Given the description of an element on the screen output the (x, y) to click on. 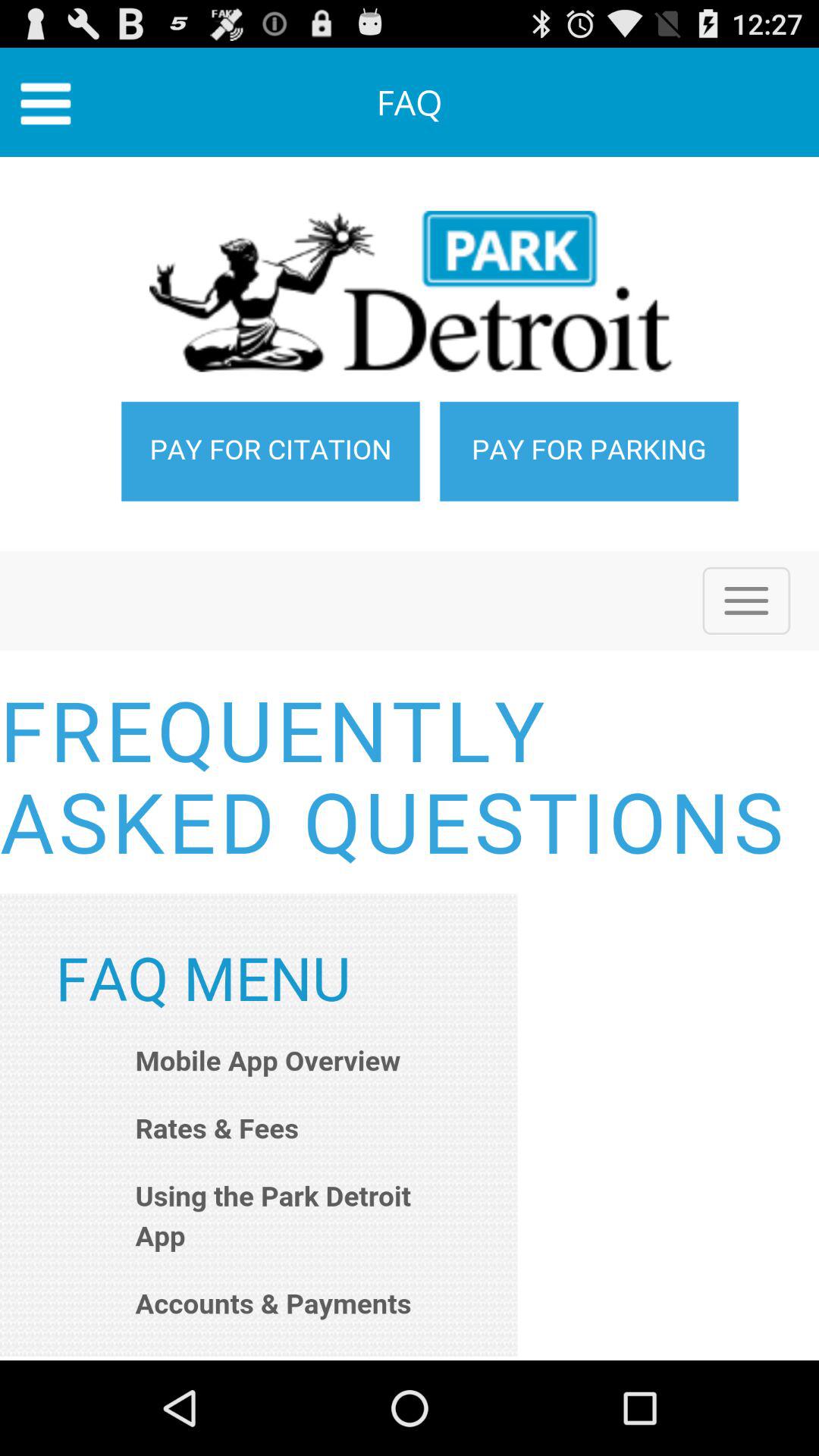
share the article (409, 758)
